Given the description of an element on the screen output the (x, y) to click on. 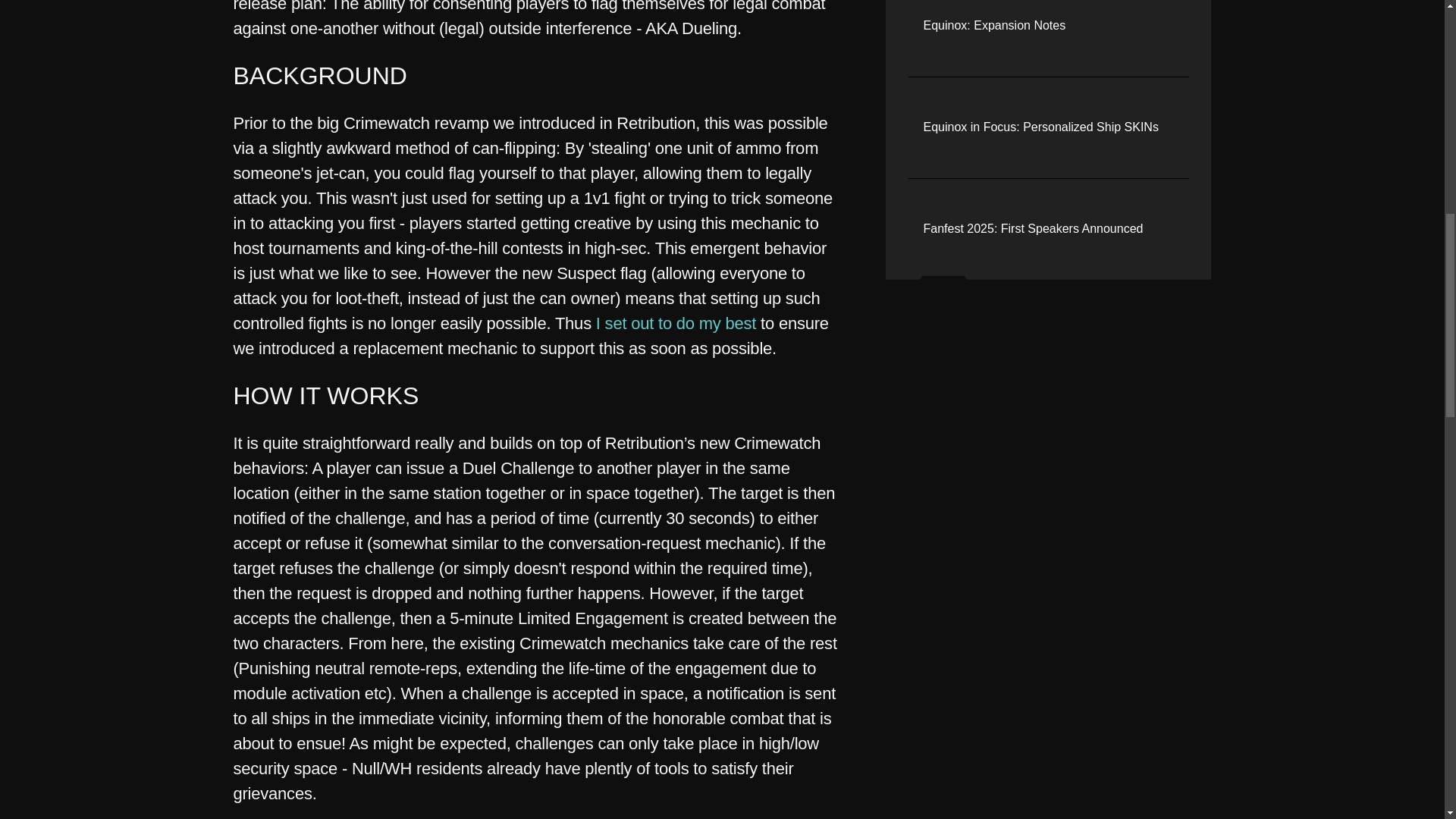
Fanfest 2025: First Speakers Announced (1032, 229)
Equinox in Focus: Personalized Ship SKINs (1040, 126)
Equinox: Expansion Notes (994, 25)
